Given the description of an element on the screen output the (x, y) to click on. 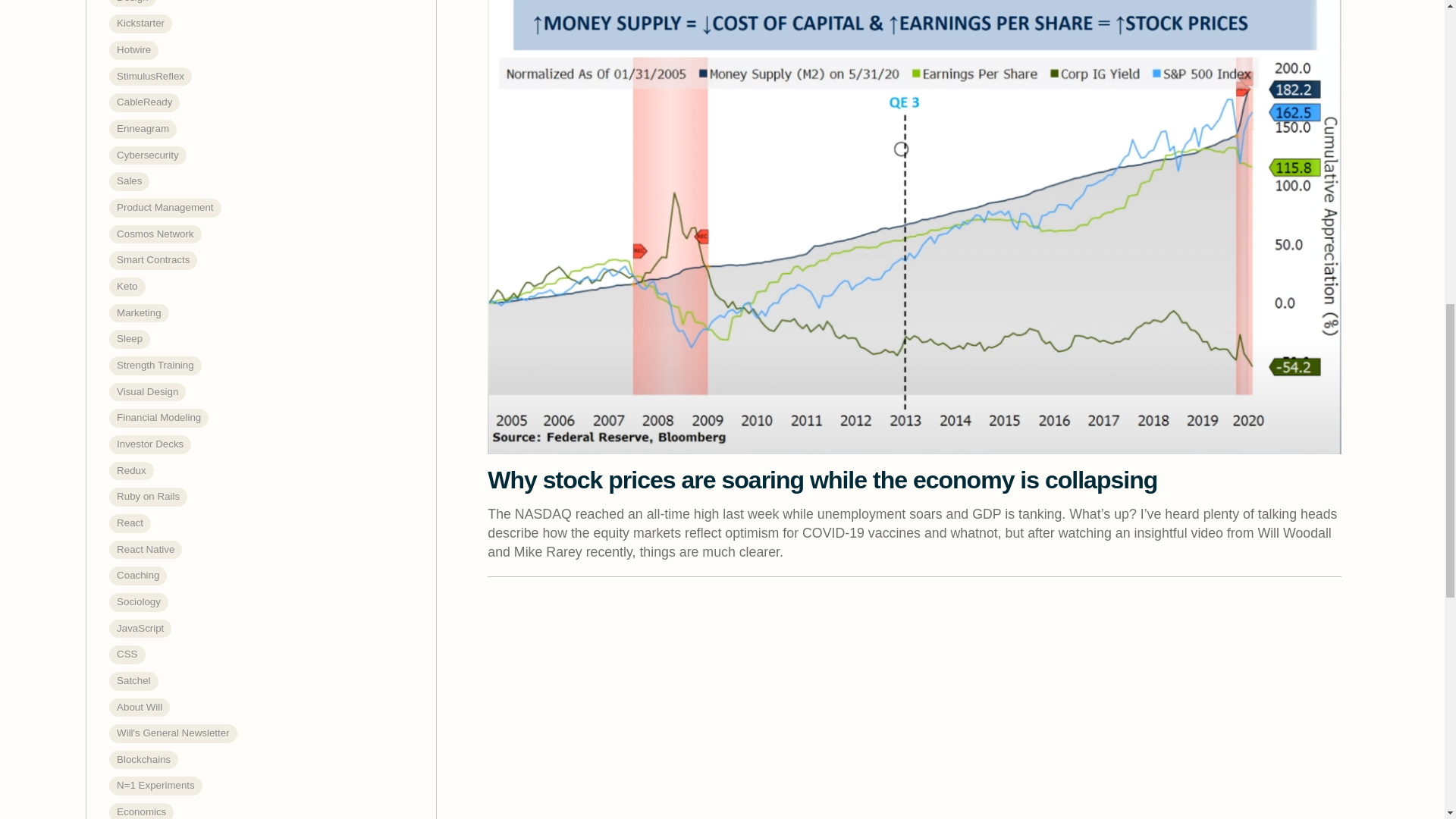
Hotwire (133, 49)
Smart Contracts (152, 260)
CableReady (144, 102)
Design (132, 3)
Sales (129, 180)
Product Management (165, 208)
Kickstarter (140, 23)
Cybersecurity (147, 155)
StimulusReflex (150, 76)
Enneagram (142, 128)
Cosmos Network (154, 234)
